Given the description of an element on the screen output the (x, y) to click on. 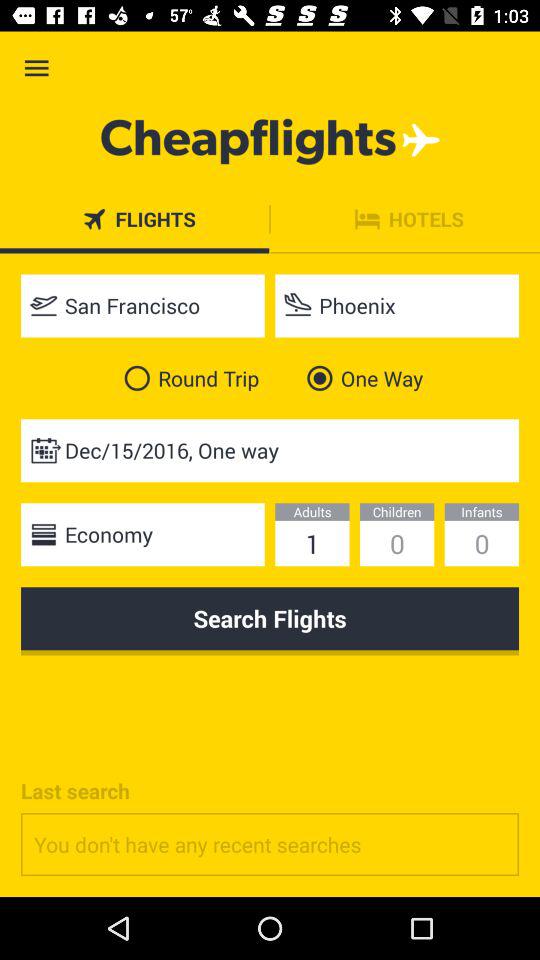
flip until the search flights item (270, 621)
